Given the description of an element on the screen output the (x, y) to click on. 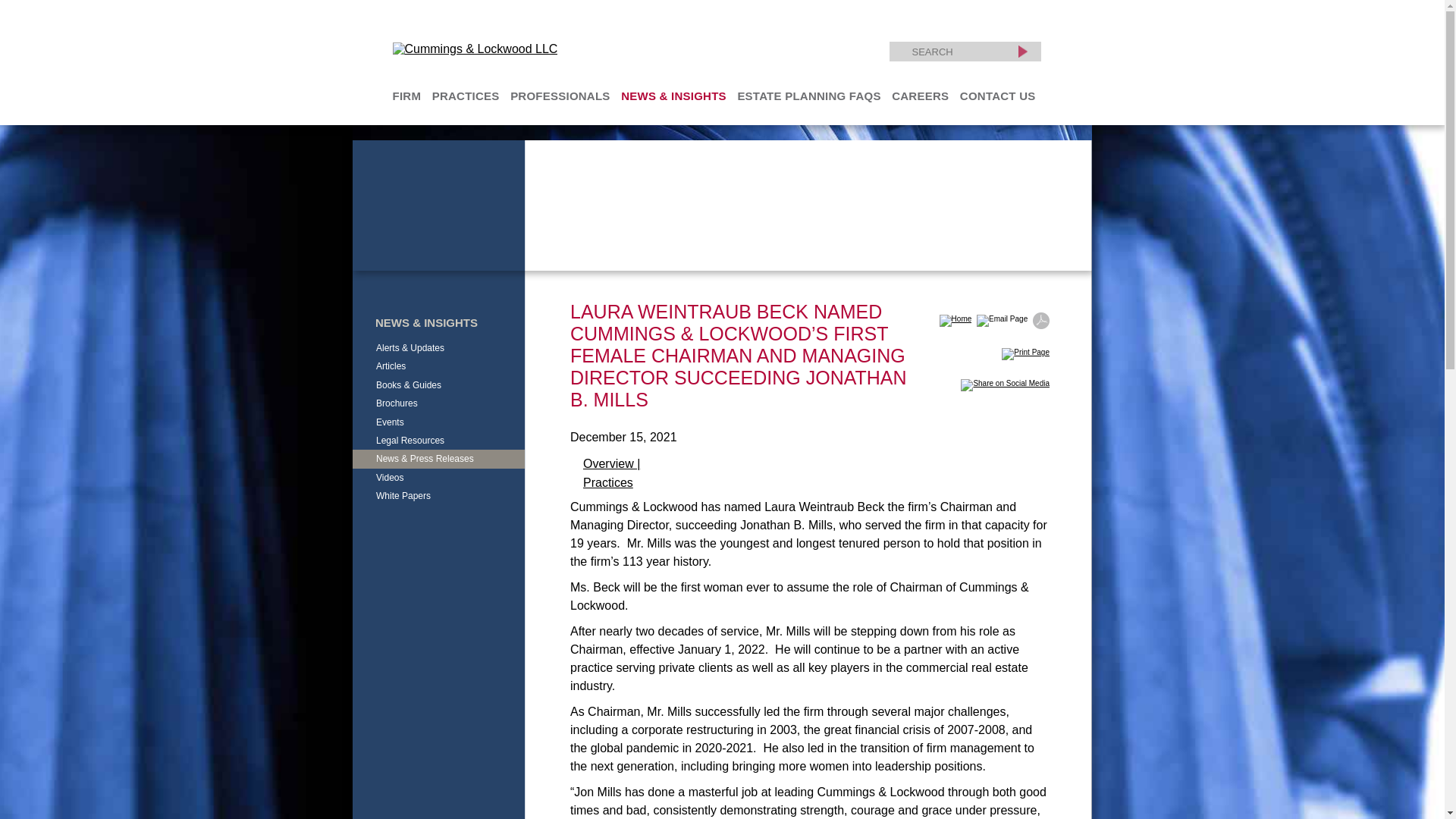
White Papers (402, 495)
CONTACT US (997, 95)
Practices (608, 481)
ESTATE PLANNING FAQS (808, 95)
Articles (390, 366)
Videos (389, 477)
CAREERS (920, 95)
Home (954, 310)
PROFESSIONALS (560, 95)
Legal Resources (410, 440)
